Given the description of an element on the screen output the (x, y) to click on. 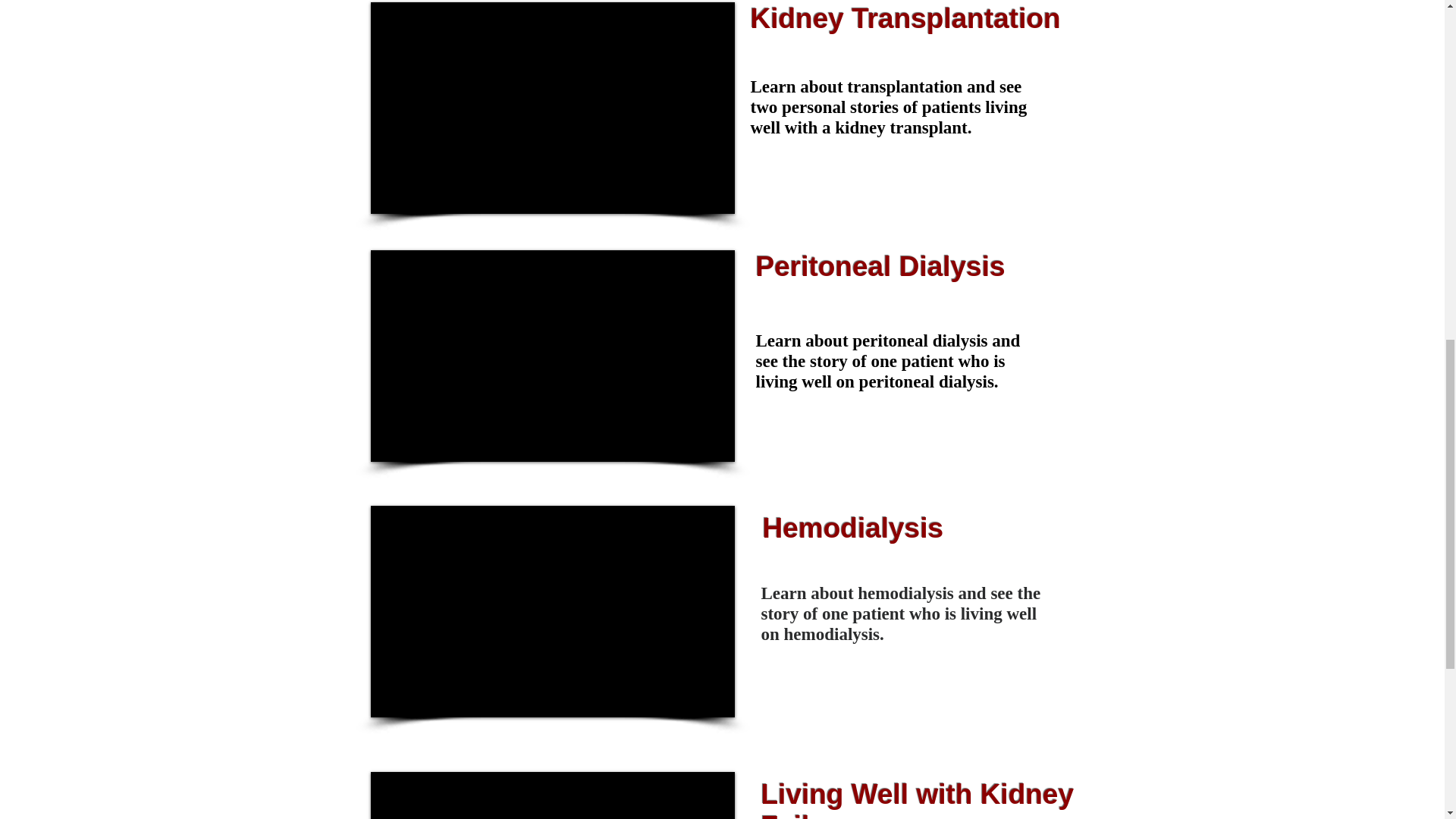
External YouTube (551, 795)
External YouTube (551, 355)
External YouTube (551, 611)
External YouTube (551, 107)
